Given the description of an element on the screen output the (x, y) to click on. 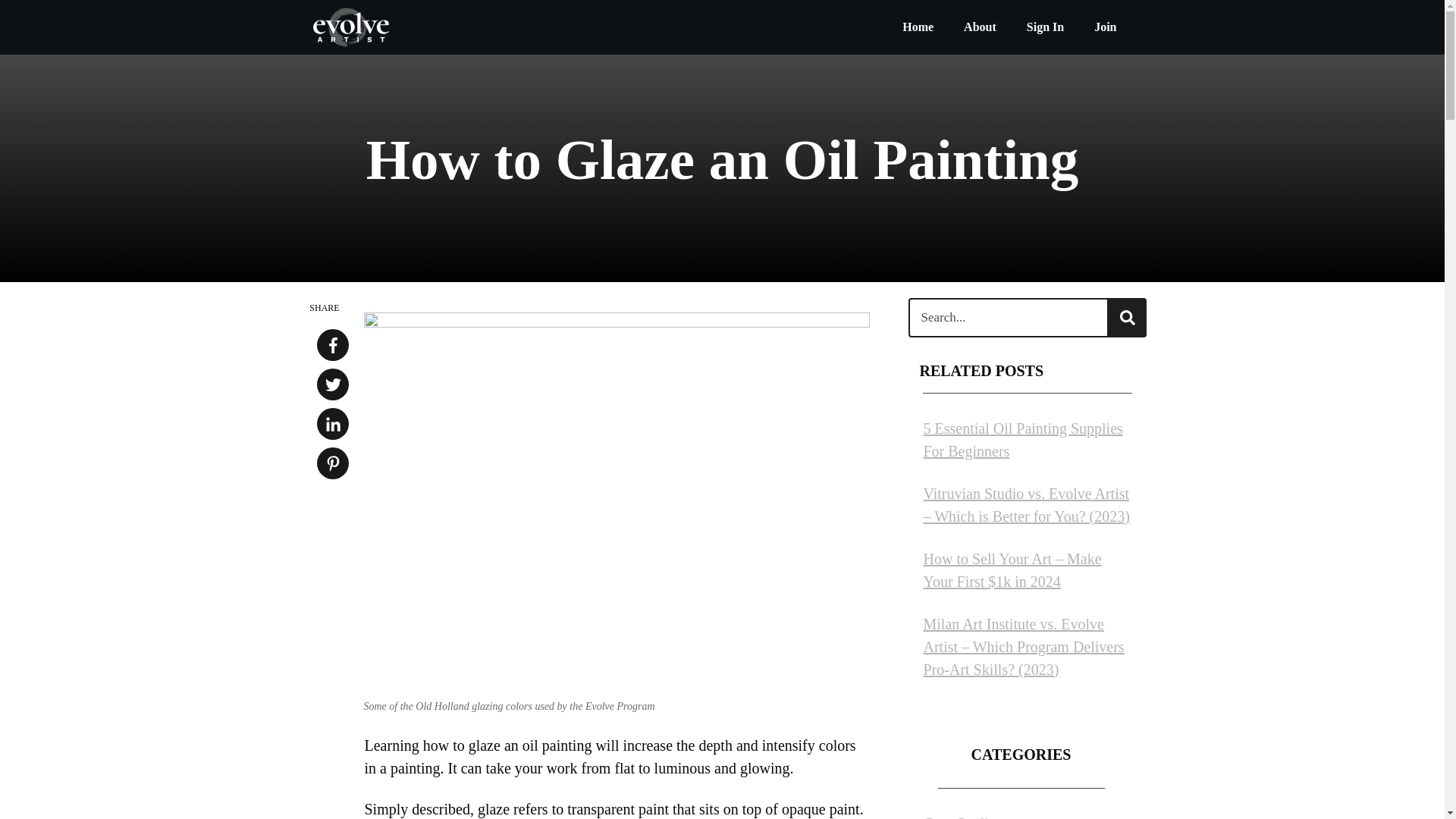
5 Essential Oil Painting Supplies For Beginners (1022, 439)
About (979, 27)
Case Studies (962, 816)
Home (917, 27)
5 Essential Oil Painting Supplies For Beginners (1022, 439)
Join (1105, 27)
Sign In (1045, 27)
5 Essential Oil Painting Supplies For Beginners (1026, 439)
